Given the description of an element on the screen output the (x, y) to click on. 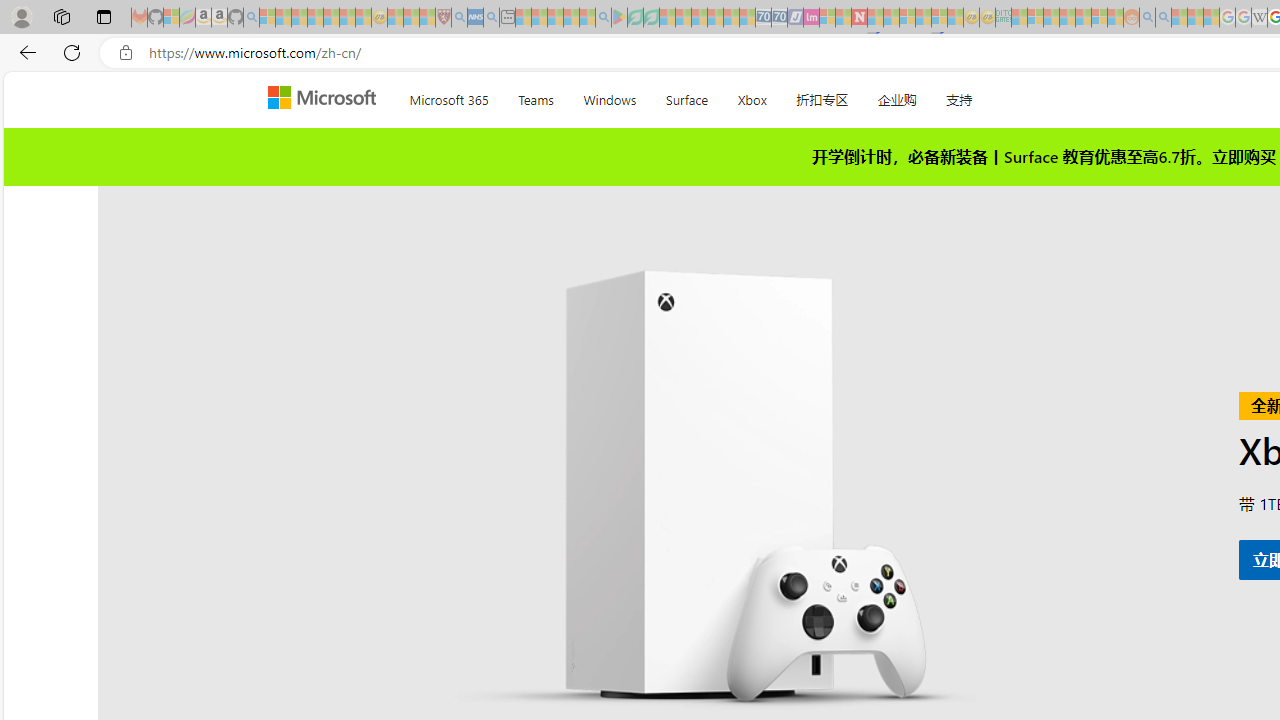
The Weather Channel - MSN - Sleeping (299, 17)
